Given the description of an element on the screen output the (x, y) to click on. 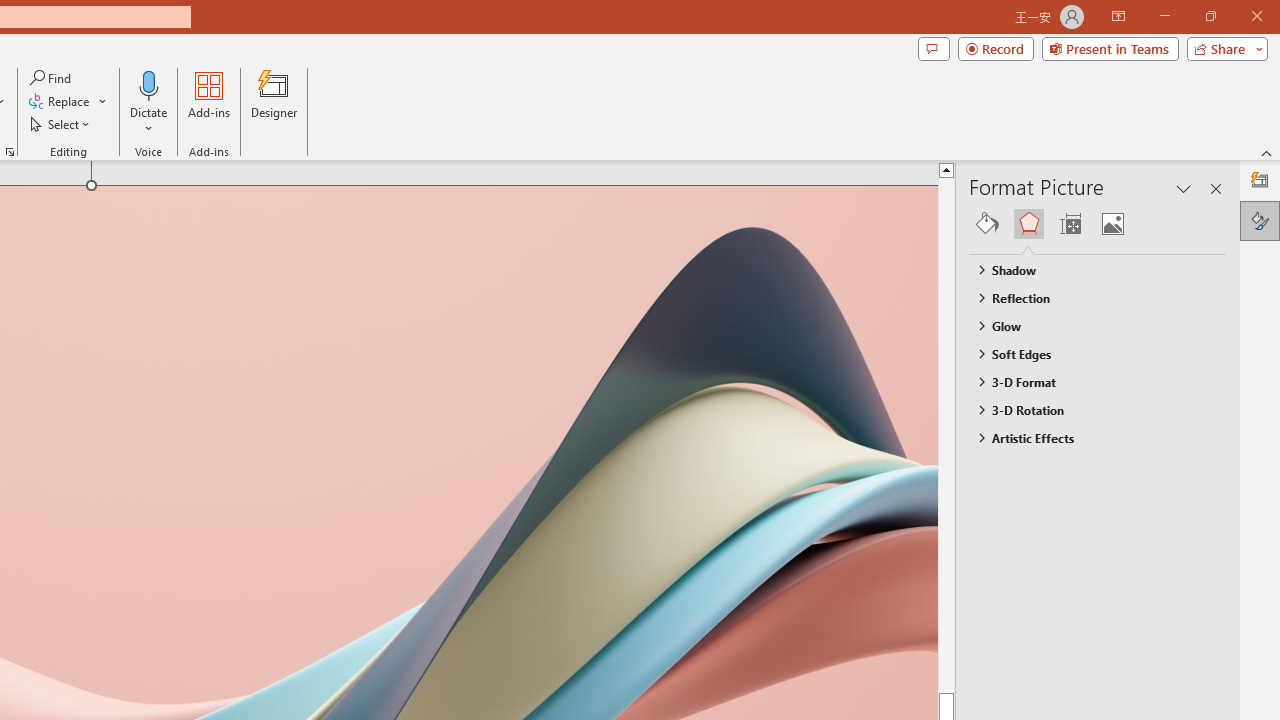
Format Picture (1260, 220)
Soft Edges (1088, 353)
3-D Rotation (1088, 410)
